Given the description of an element on the screen output the (x, y) to click on. 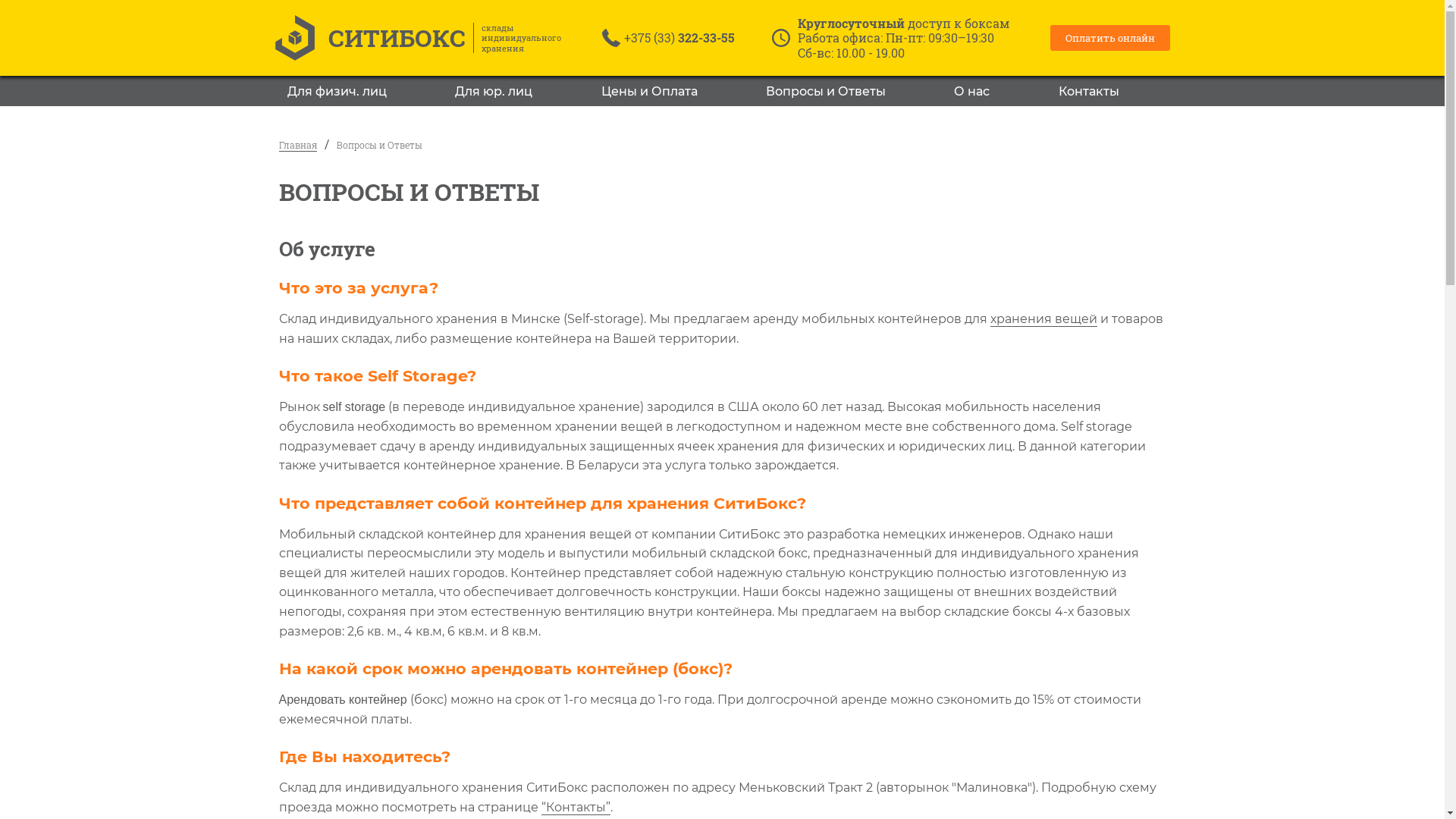
+375 (33) 322-33-55 Element type: text (679, 37)
